Given the description of an element on the screen output the (x, y) to click on. 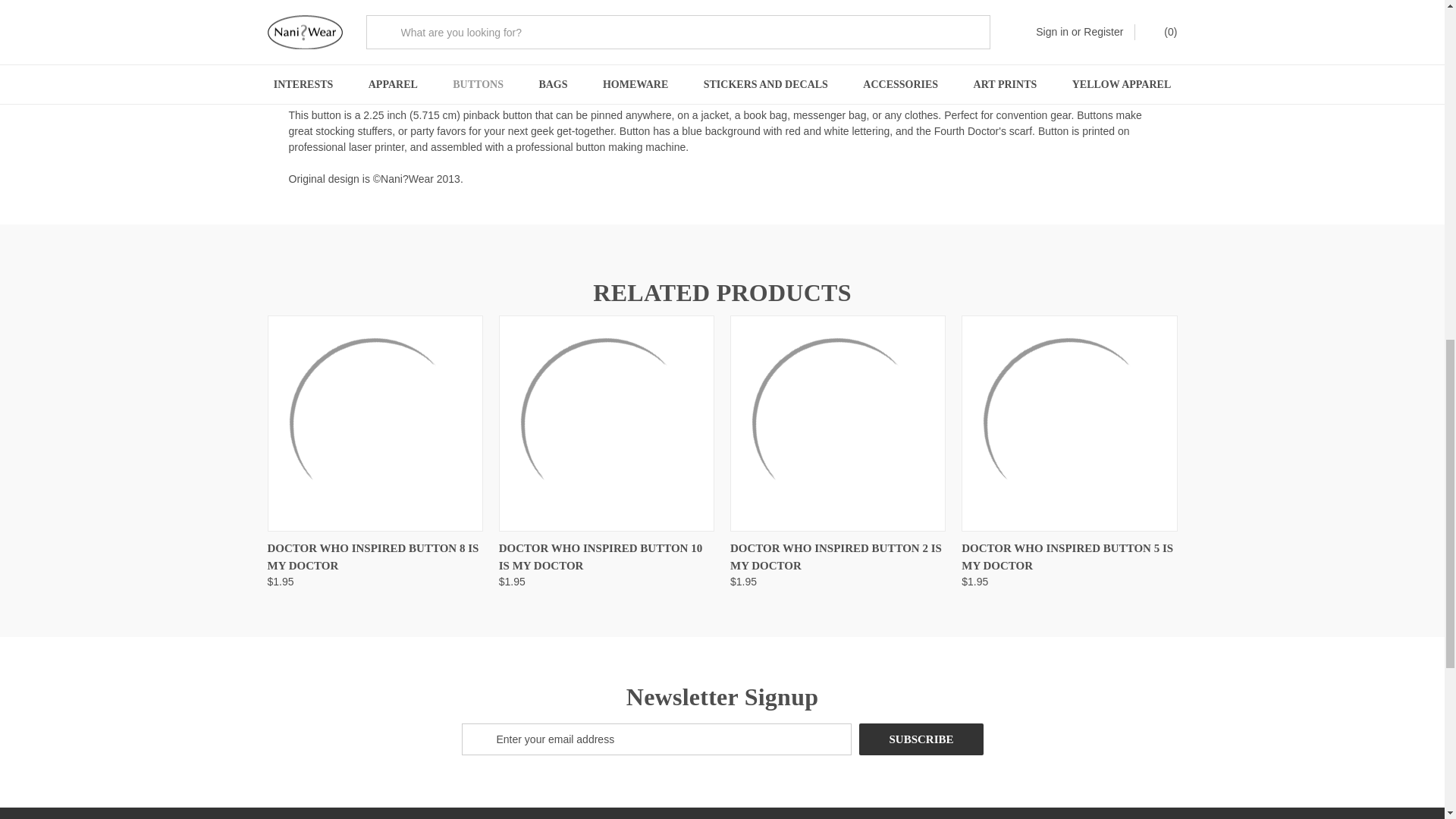
Doctor Who Button: 5 is My Doctor (1068, 423)
Doctor Who Button: 2 is My Doctor (837, 423)
Subscribe (920, 739)
Doctor Who Button: 10 is My Doctor (606, 423)
Doctor Who Button: 8 is My Doctor (374, 423)
